Given the description of an element on the screen output the (x, y) to click on. 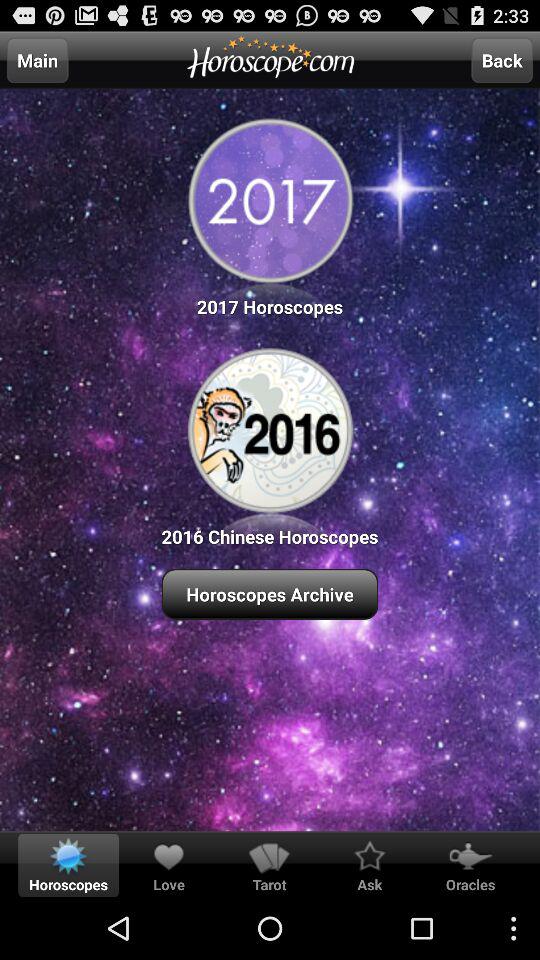
turn on horoscopes archive item (269, 593)
